Given the description of an element on the screen output the (x, y) to click on. 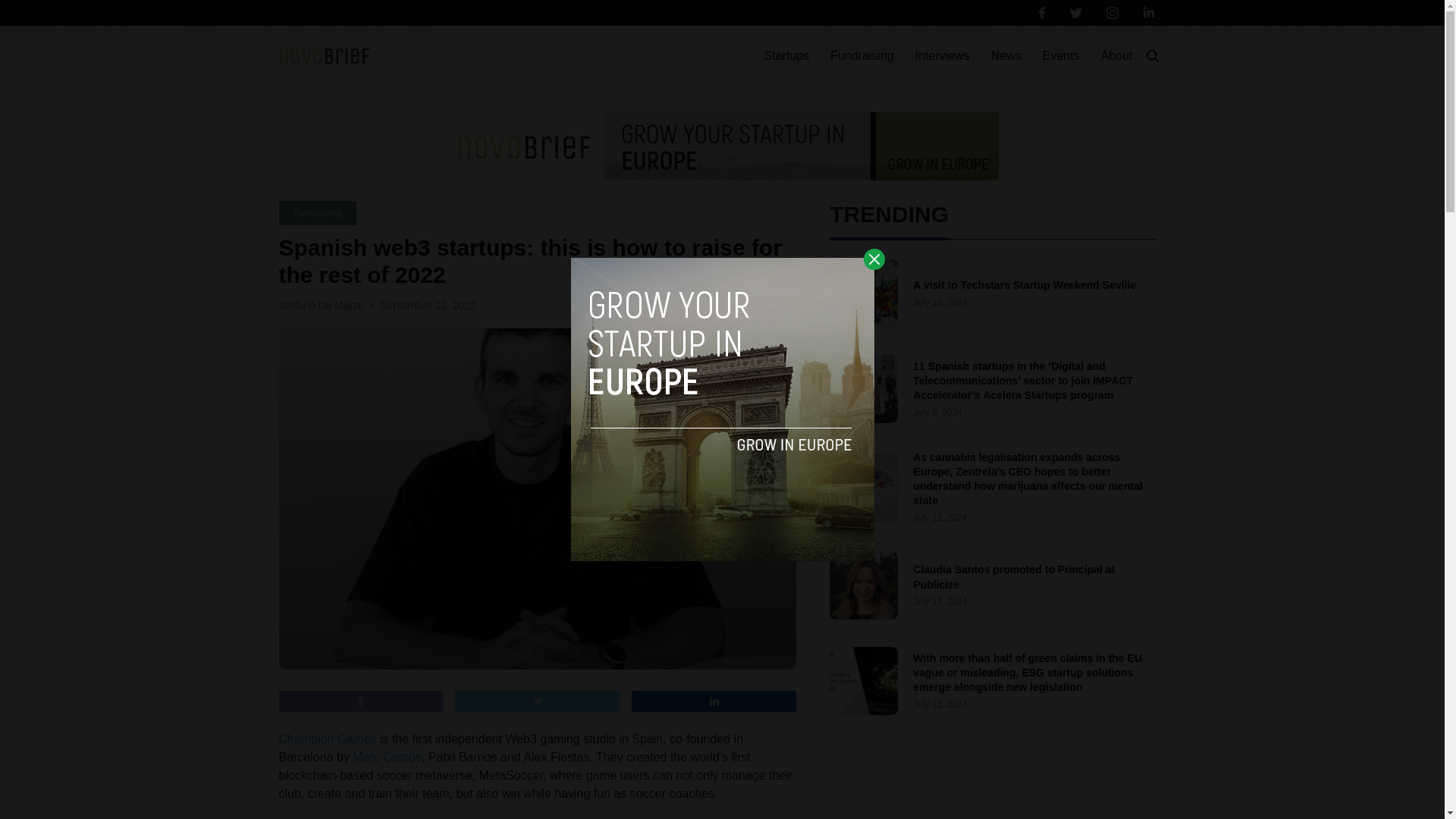
Fundraising (861, 55)
Startups (786, 55)
Champion Games (328, 738)
About (1116, 55)
Stefano De Marzo (322, 305)
Events (1061, 55)
Interviews (942, 55)
News (1006, 55)
Fundraising (317, 212)
